Given the description of an element on the screen output the (x, y) to click on. 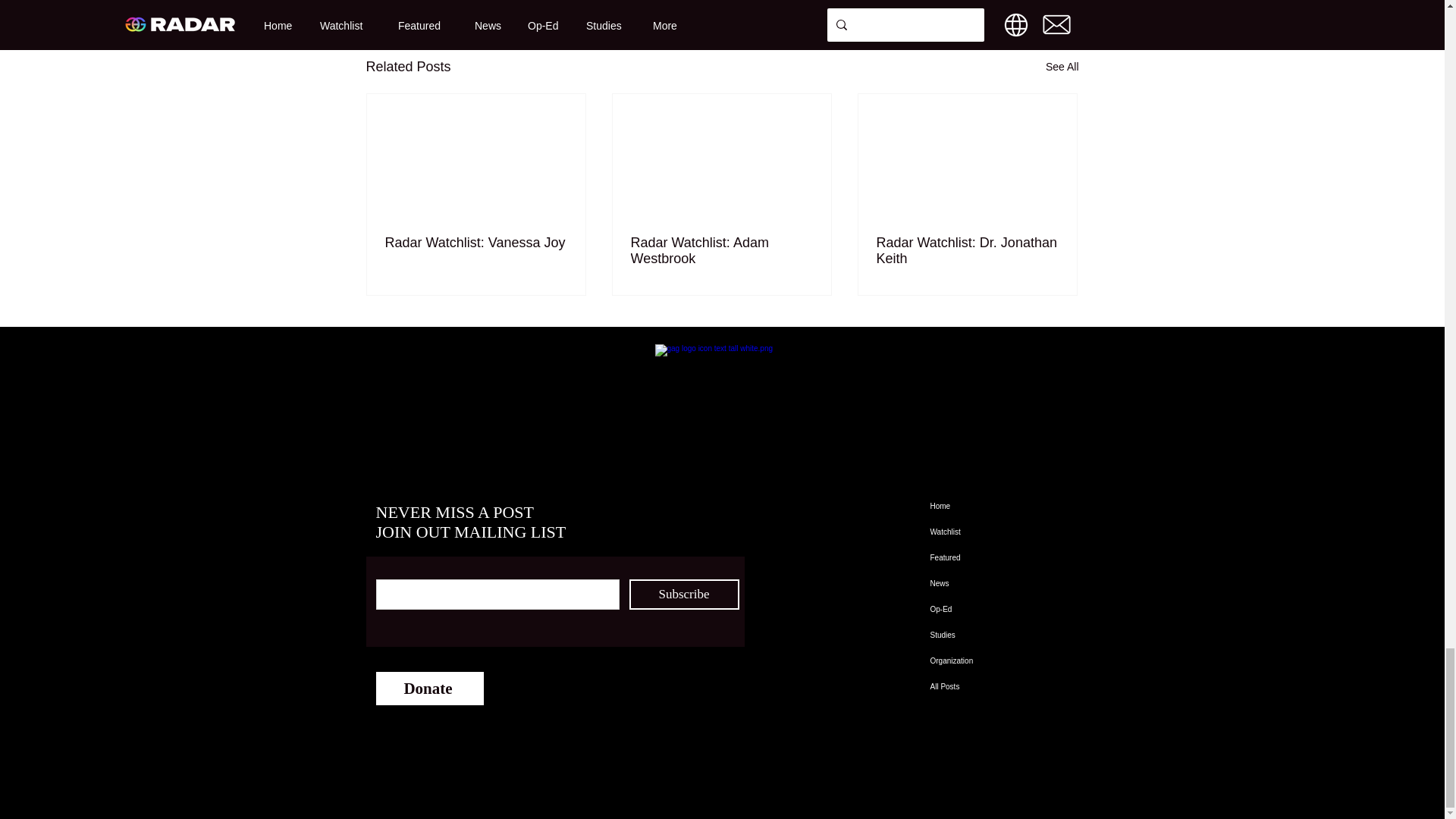
Radar Watchlist: Adam Westbrook (721, 250)
Radar Watchlist: Vanessa Joy (476, 242)
See All (1061, 66)
